Given the description of an element on the screen output the (x, y) to click on. 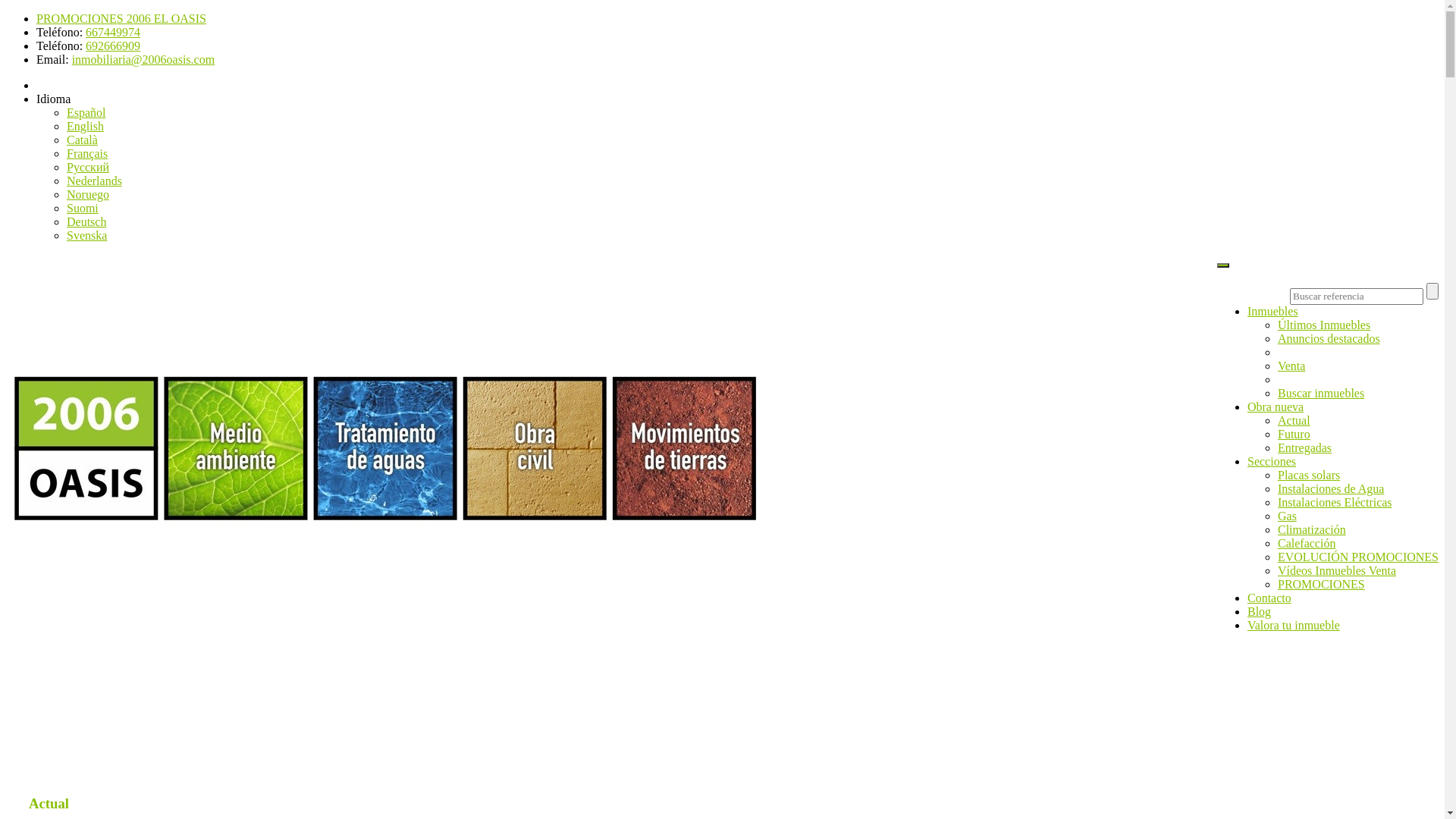
Deutsch Element type: text (86, 221)
Gas Element type: text (1286, 515)
Contacto Element type: text (1269, 597)
PROMOCIONES Element type: text (1321, 583)
Suomi Element type: text (82, 207)
Instalaciones de Agua Element type: text (1330, 488)
Venta Element type: text (1291, 365)
Obra nueva Element type: text (1275, 406)
Inmuebles Element type: text (1272, 310)
Actual Element type: text (1293, 420)
Secciones Element type: text (1271, 461)
Futuro Element type: text (1293, 433)
Blog Element type: text (1258, 611)
Buscar inmuebles Element type: text (1320, 392)
PROMOCIONES 2006 EL OASIS Element type: text (121, 18)
Valora tu inmueble Element type: text (1293, 624)
Noruego Element type: text (87, 194)
667449974 Element type: text (112, 31)
Nederlands Element type: text (94, 180)
Svenska Element type: text (86, 235)
inmobiliaria@2006oasis.com Element type: text (143, 59)
Anuncios destacados Element type: text (1328, 338)
English Element type: text (84, 125)
692666909 Element type: text (112, 45)
Placas solars Element type: text (1308, 474)
Entregadas Element type: text (1304, 447)
